Given the description of an element on the screen output the (x, y) to click on. 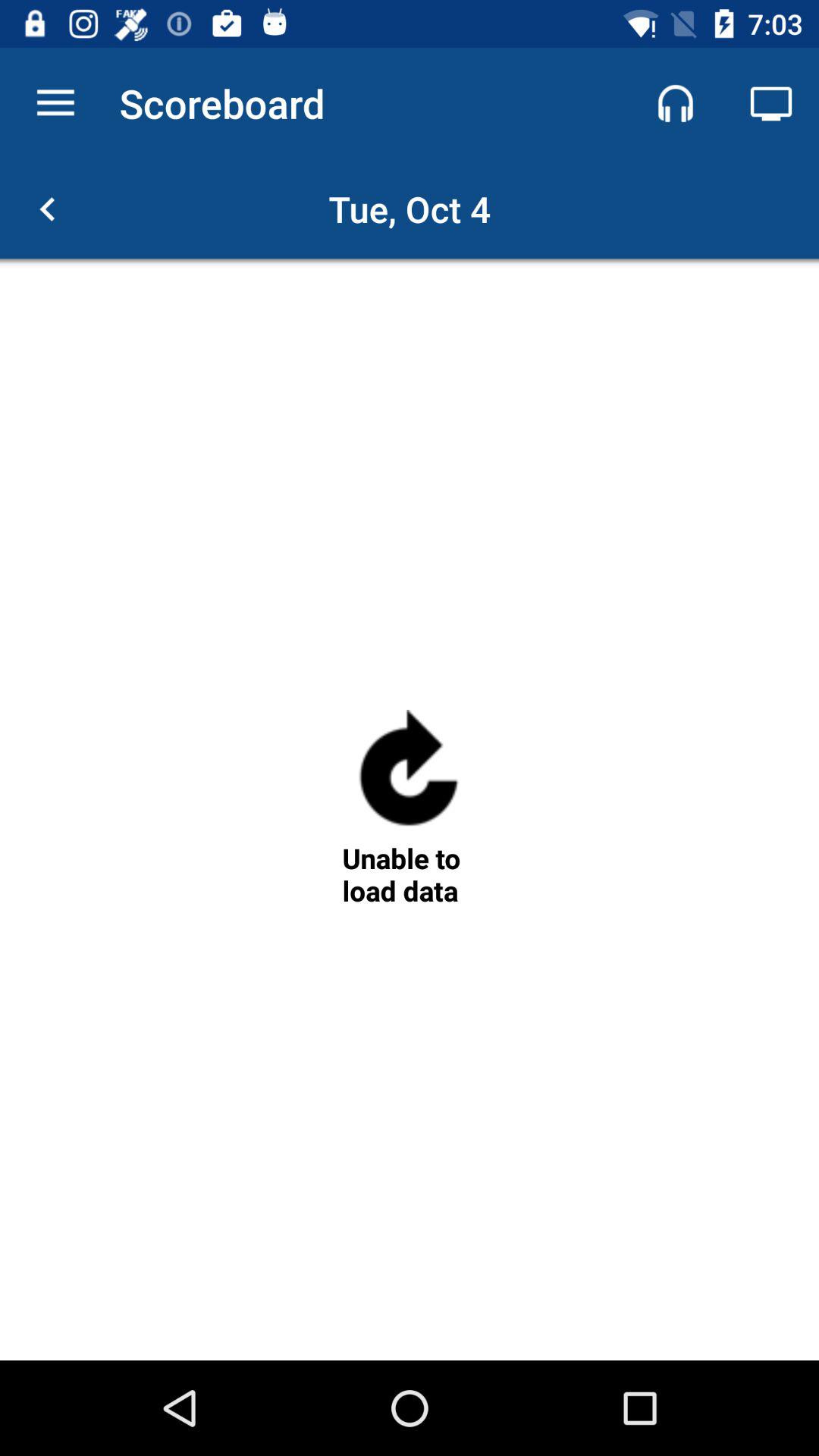
open the icon above tue, oct 4 (675, 103)
